Given the description of an element on the screen output the (x, y) to click on. 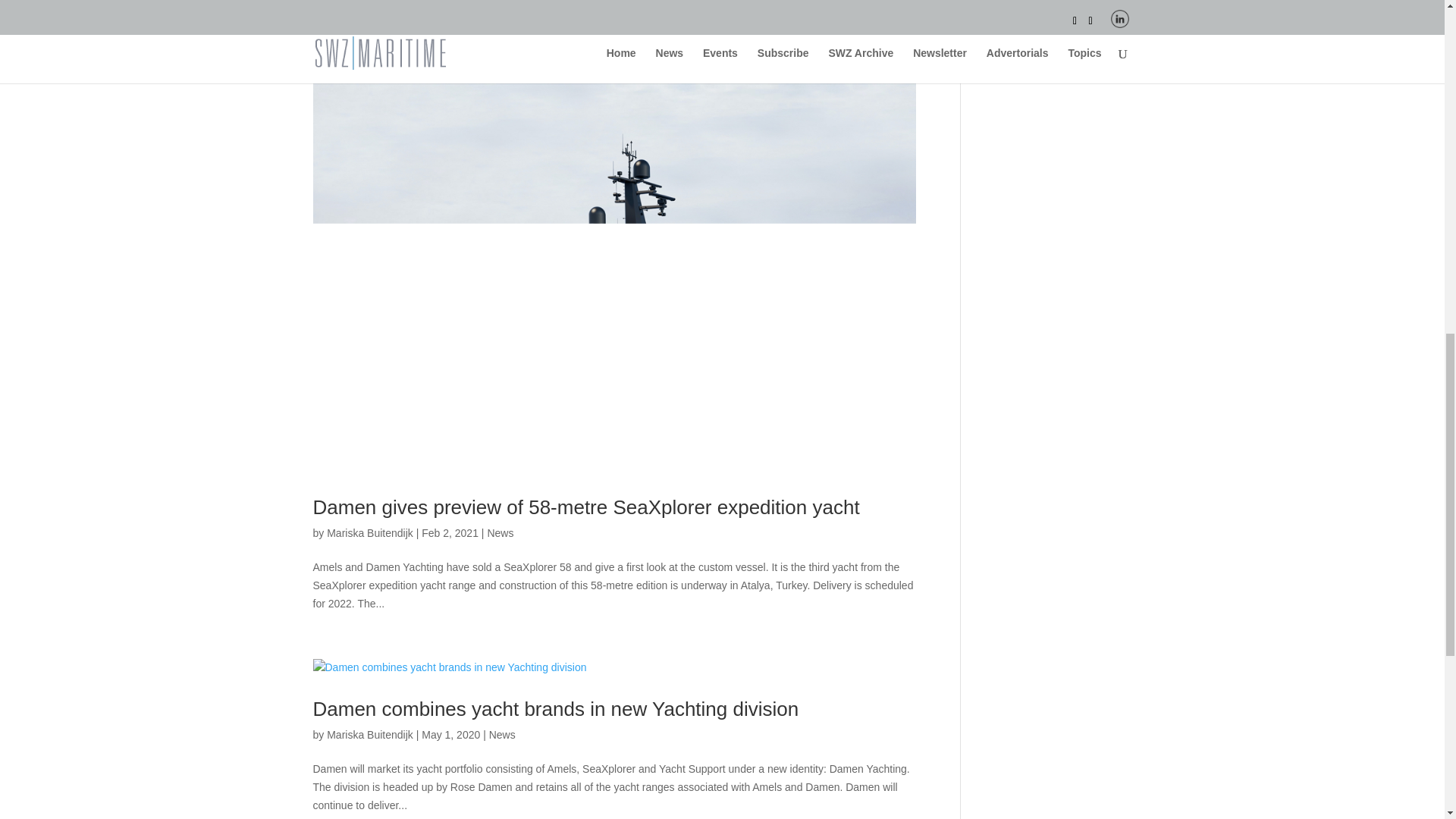
News (499, 532)
Damen combines yacht brands in new Yachting division (555, 708)
News (502, 734)
Mariska Buitendijk (369, 734)
Mariska Buitendijk (369, 532)
here (1021, 37)
Posts by Mariska Buitendijk (369, 734)
Posts by Mariska Buitendijk (369, 532)
Damen gives preview of 58-metre SeaXplorer expedition yacht (586, 507)
